Given the description of an element on the screen output the (x, y) to click on. 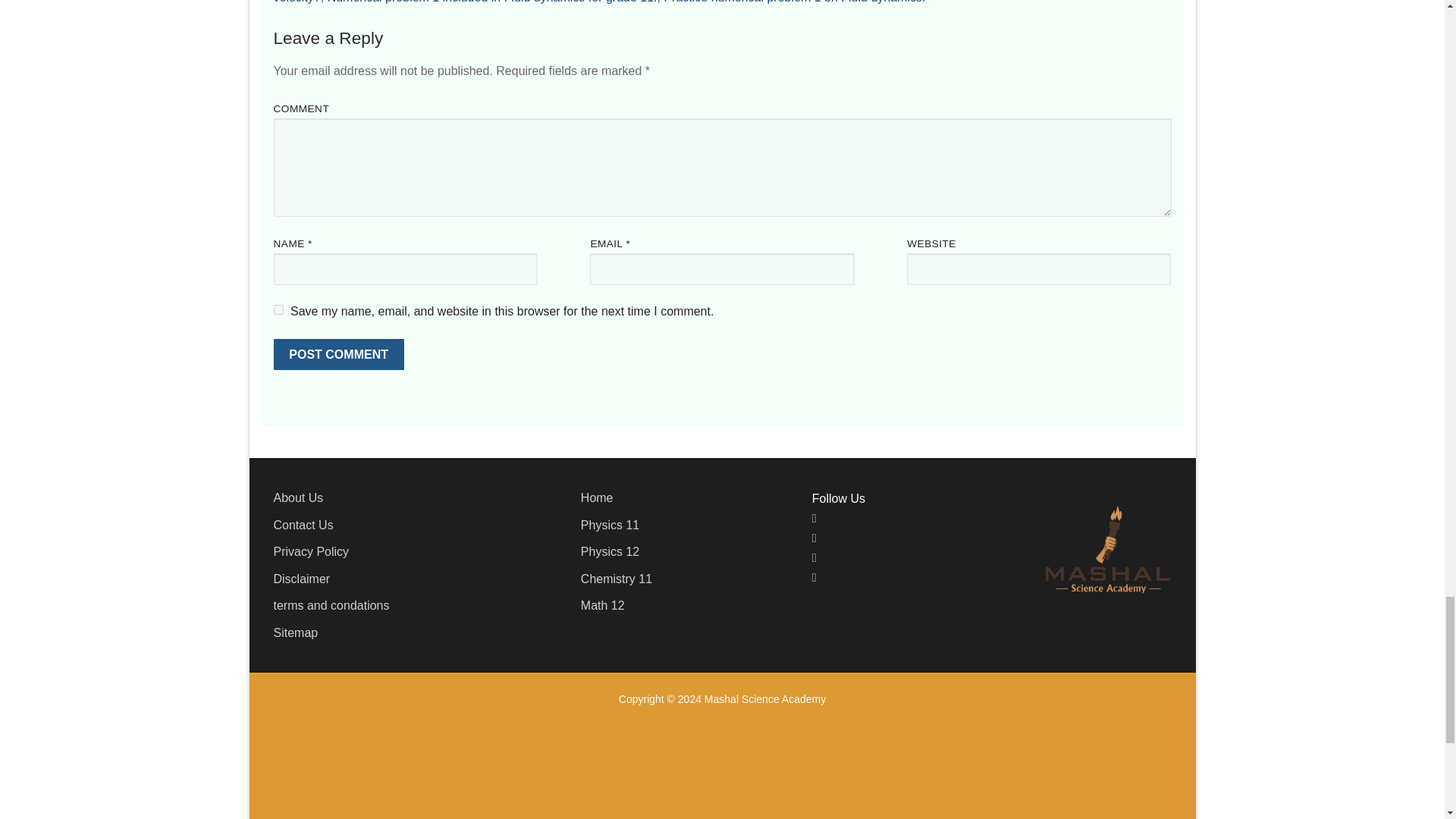
Math 12 (602, 604)
Sitemap (295, 632)
About Us (298, 497)
Privacy Policy (311, 551)
Contact Us (303, 524)
terms and condations (330, 604)
Physics 12 (609, 551)
Post Comment (338, 355)
Disclaimer (301, 578)
Home (596, 497)
yes (277, 309)
Post Comment (338, 355)
Numerical problem 1 included in Fluid dynamics for grade 11. (492, 2)
Chemistry 11 (616, 578)
Practice numerical problem 1 on Fluid dynamics. (793, 2)
